Given the description of an element on the screen output the (x, y) to click on. 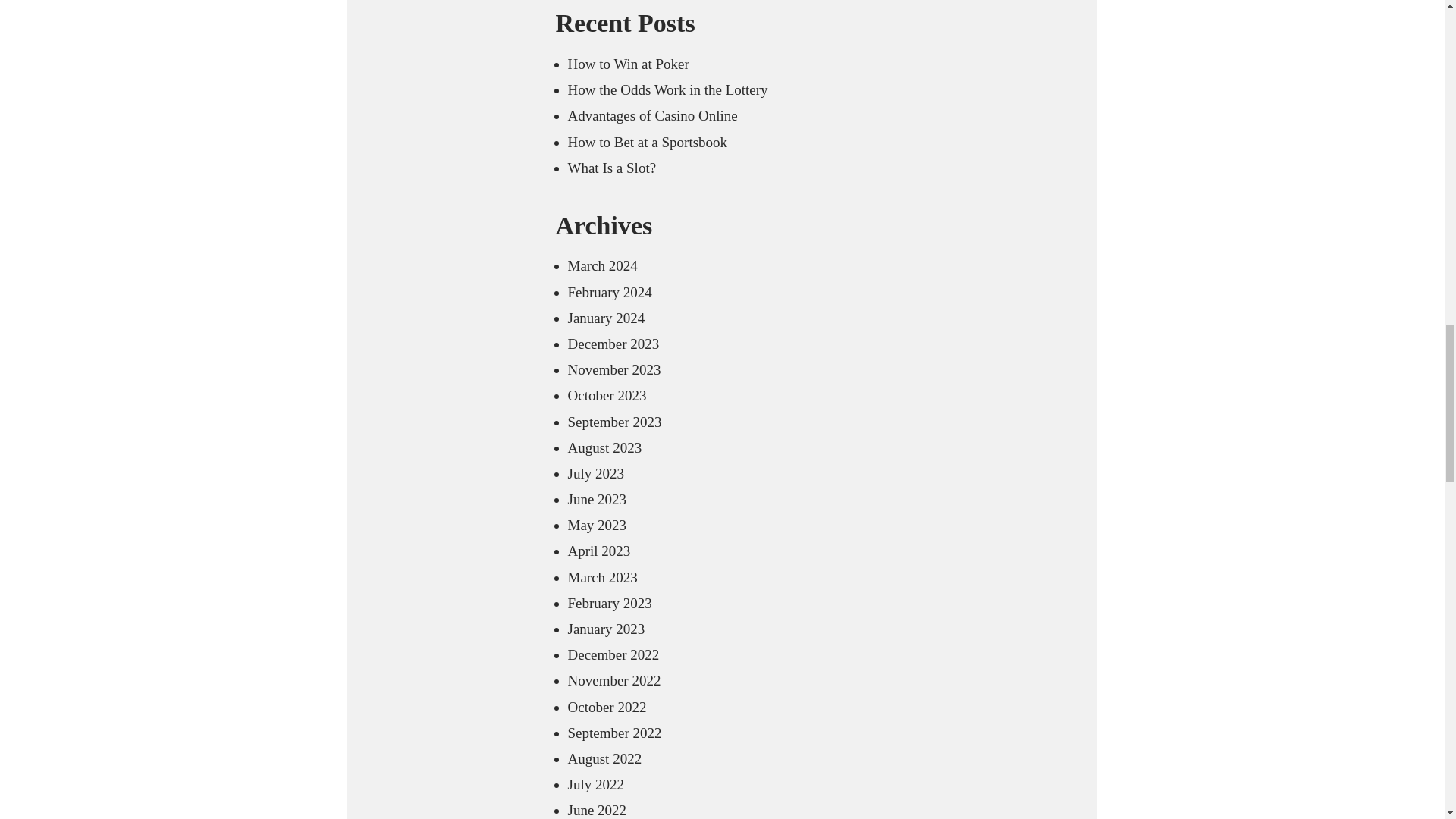
June 2023 (596, 498)
Advantages of Casino Online (651, 115)
January 2023 (606, 628)
December 2023 (613, 343)
April 2023 (598, 550)
How to Win at Poker (627, 64)
September 2023 (614, 421)
January 2024 (606, 317)
August 2023 (604, 447)
February 2023 (608, 602)
July 2023 (595, 473)
November 2022 (614, 680)
December 2022 (613, 654)
February 2024 (608, 292)
How the Odds Work in the Lottery (667, 89)
